Given the description of an element on the screen output the (x, y) to click on. 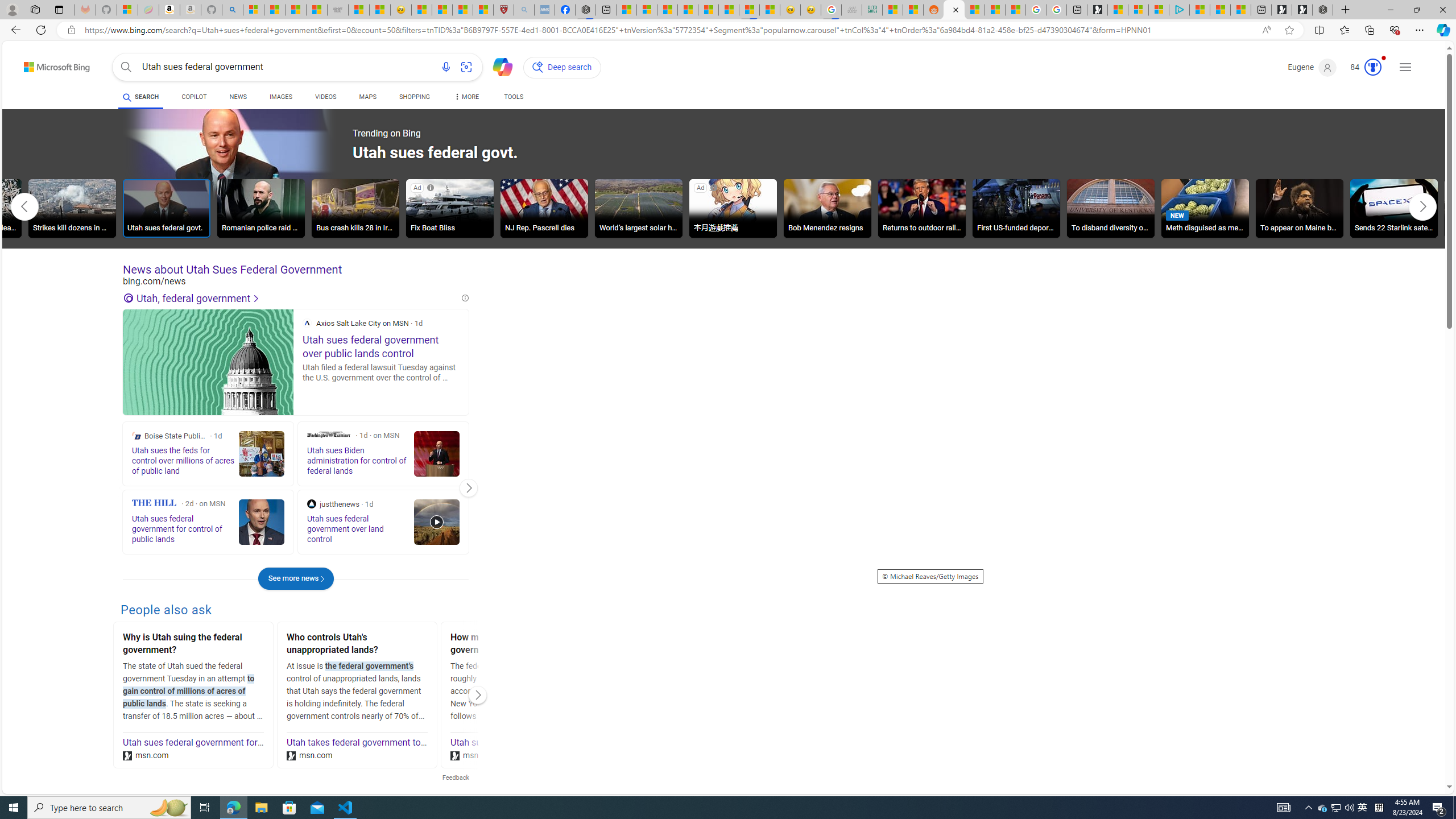
Who controls Utah's unappropriated lands? (357, 645)
